Given the description of an element on the screen output the (x, y) to click on. 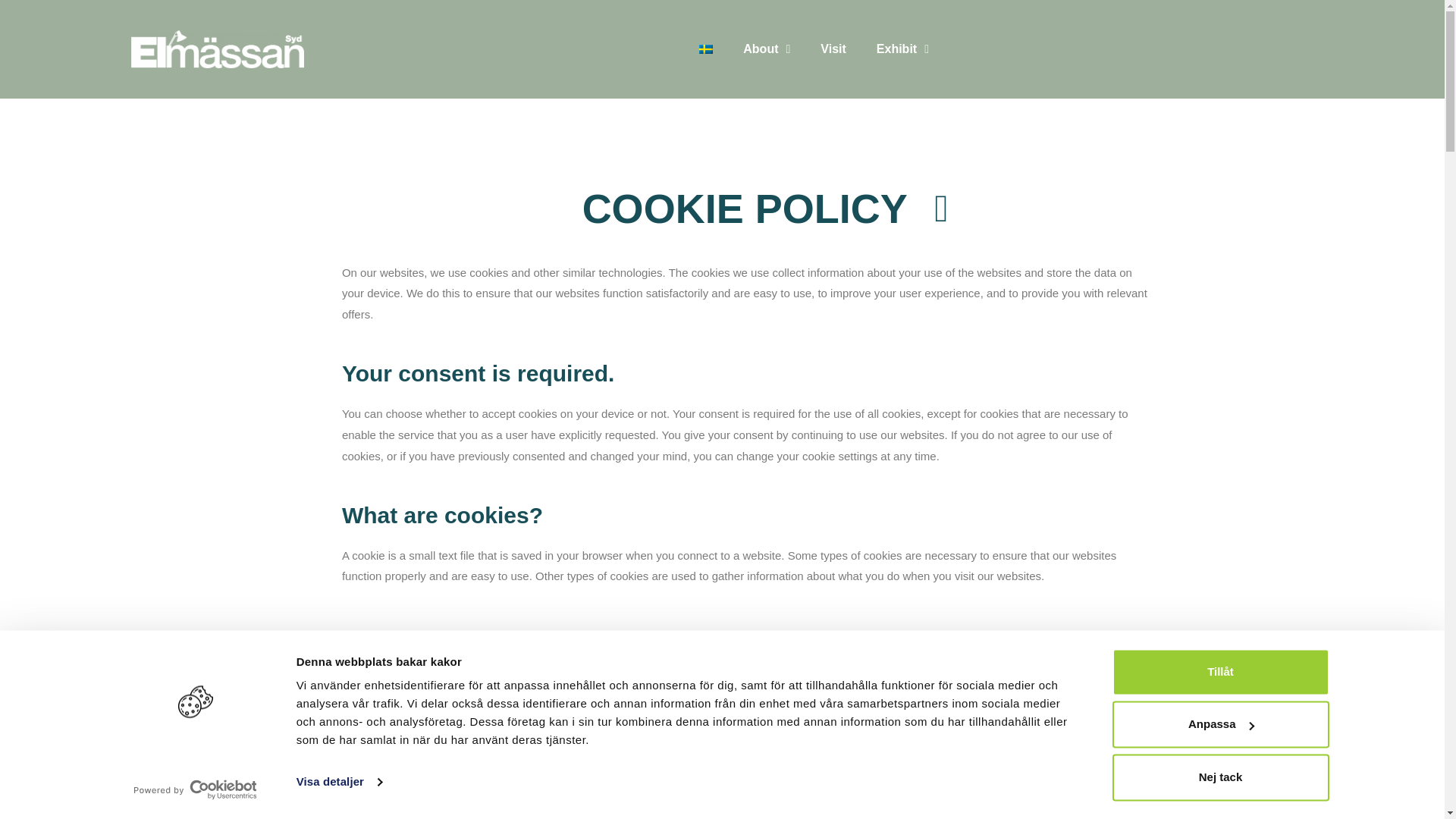
Visa detaljer (339, 782)
